Given the description of an element on the screen output the (x, y) to click on. 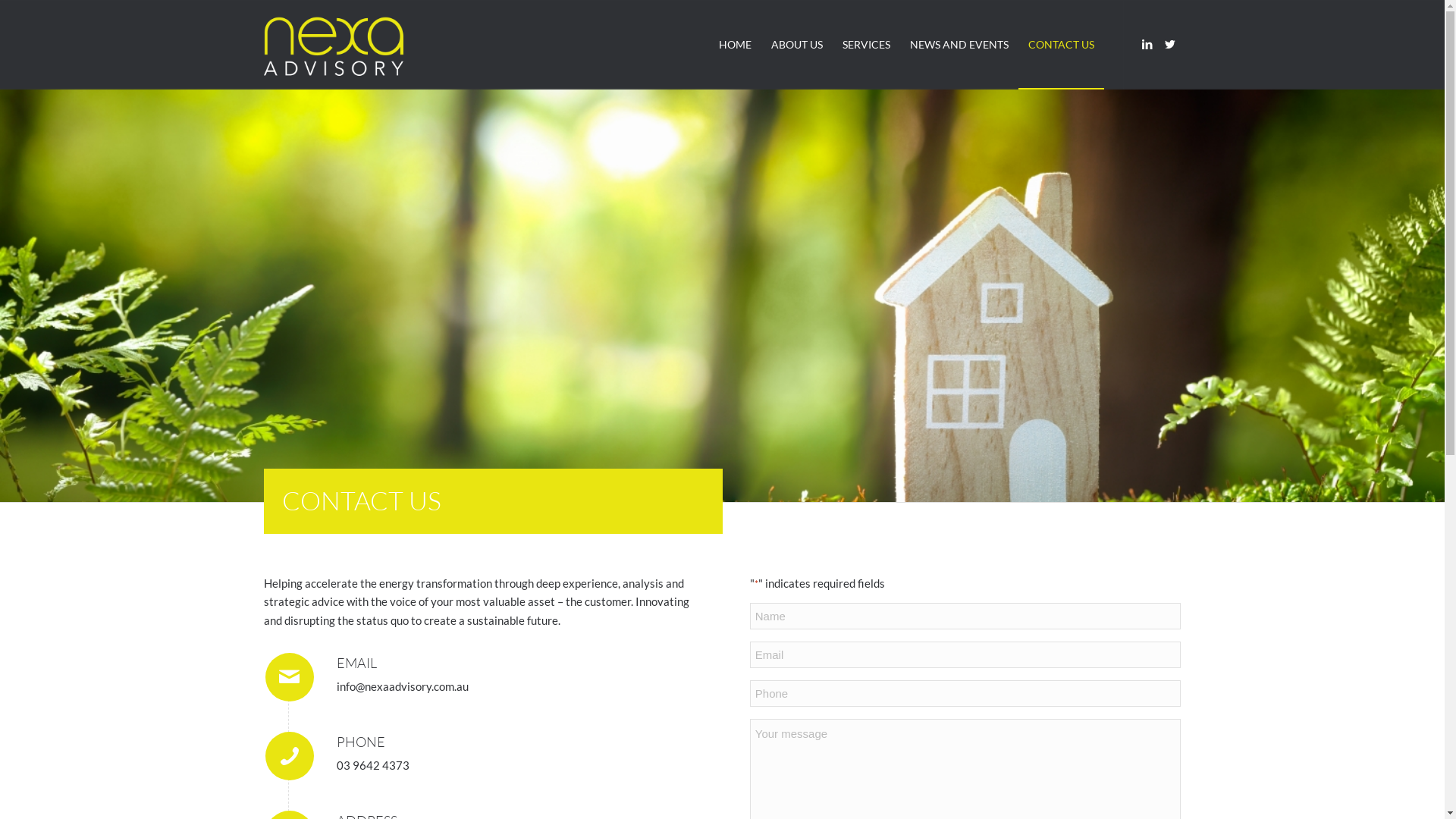
SERVICES Element type: text (866, 44)
CONTACT US Element type: text (1060, 44)
info@nexaadvisory.com.au Element type: text (402, 686)
ABOUT US Element type: text (796, 44)
NEWS AND EVENTS Element type: text (958, 44)
HOME Element type: text (734, 44)
